Given the description of an element on the screen output the (x, y) to click on. 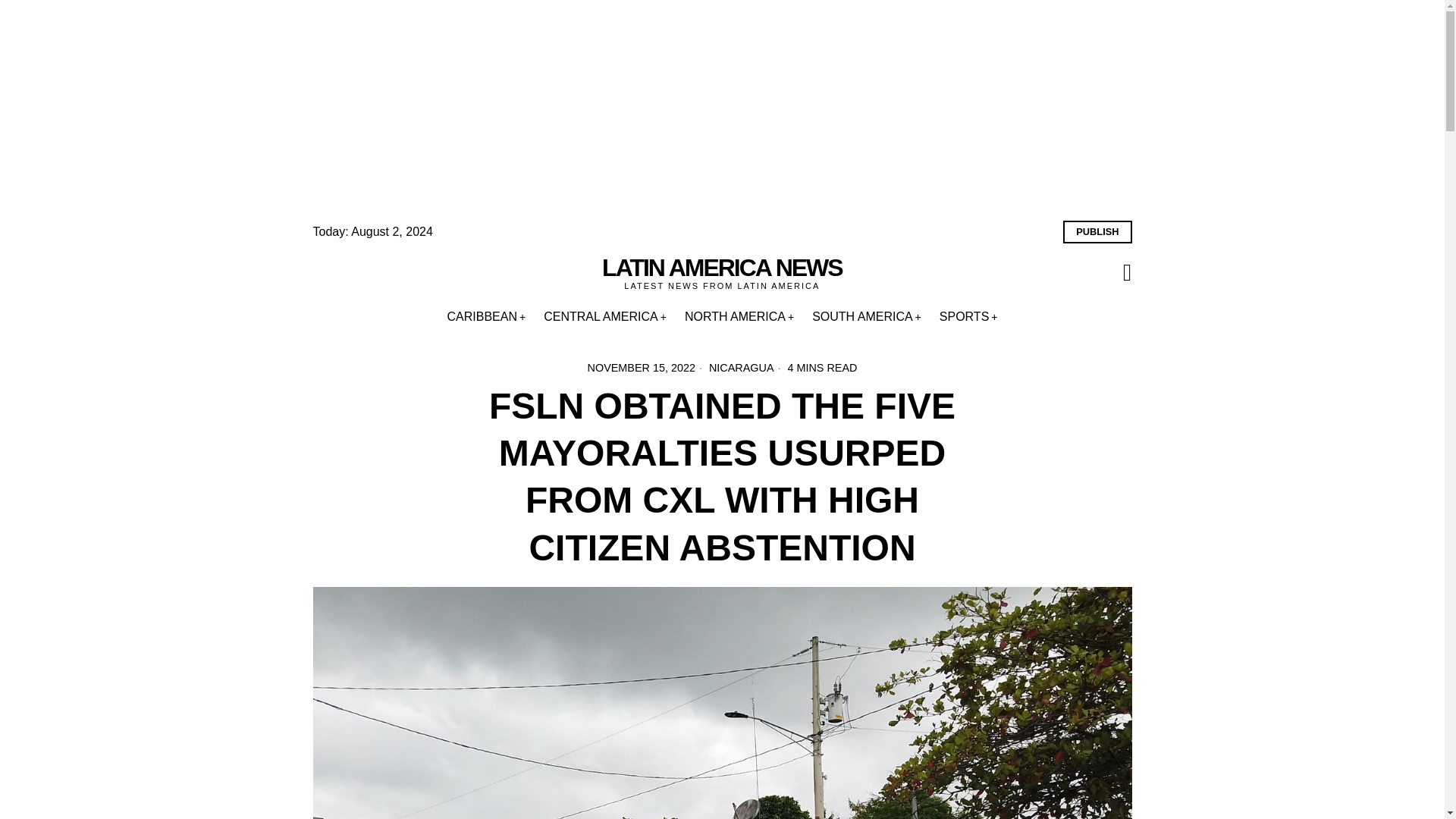
NORTH AMERICA (739, 317)
15 Nov, 2022 17:01:48 (641, 366)
NICARAGUA (741, 366)
CENTRAL AMERICA (604, 317)
SOUTH AMERICA (866, 317)
LATIN AMERICA NEWS (722, 267)
CARIBBEAN (486, 317)
PUBLISH (1096, 231)
SPORTS (968, 317)
